Given the description of an element on the screen output the (x, y) to click on. 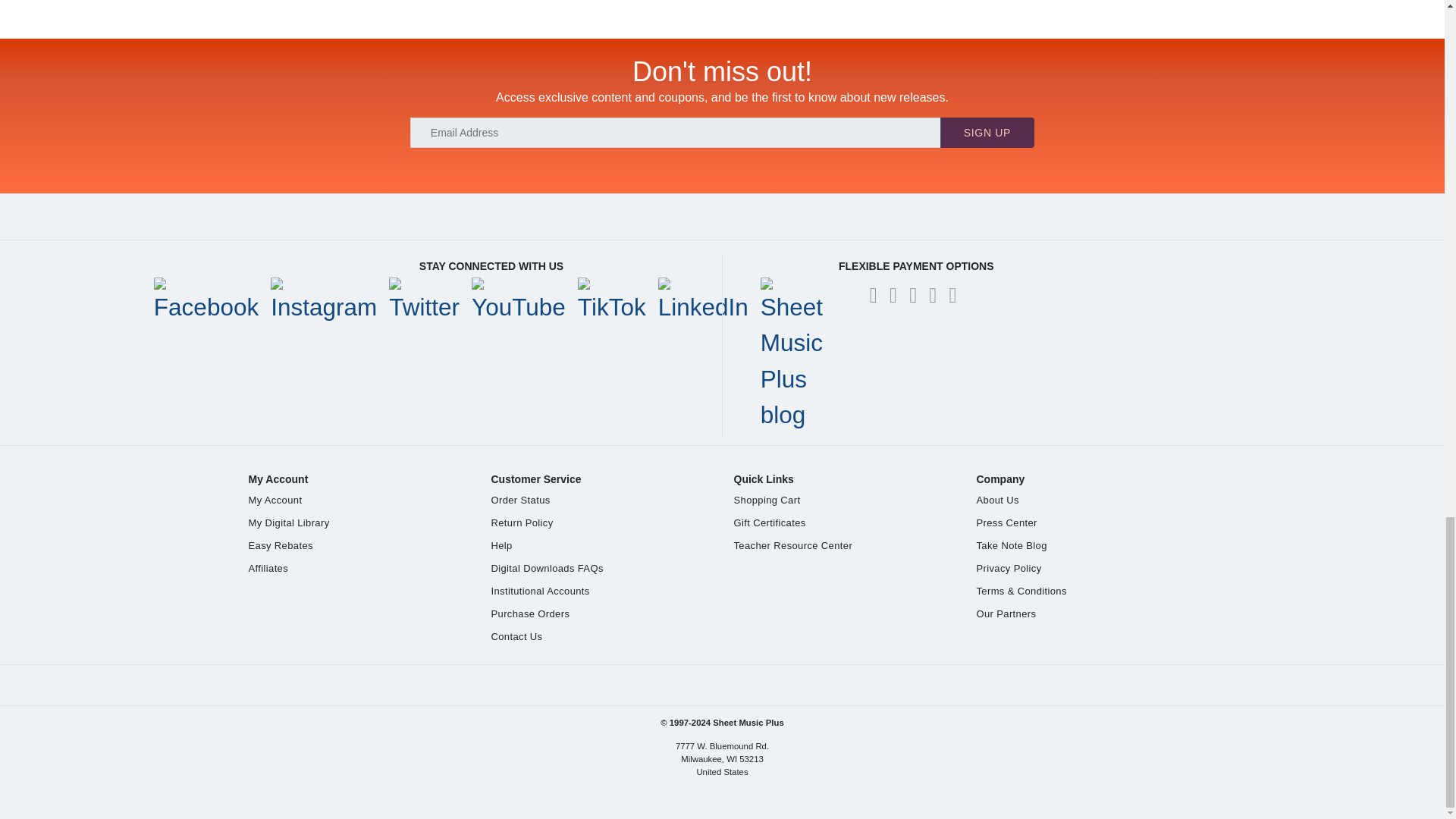
Go to My Account (275, 500)
Go to My Digital Library (289, 522)
Go to Return Policy (522, 522)
Customer reviews powered by Trustpilot (722, 216)
Go to Order Status (521, 500)
Go to Contact Us (517, 636)
Go to Help (502, 545)
Go to Easy Rebates (280, 545)
Go to School and Church Accounts (540, 591)
Go to Digital Downloads FAQs (548, 568)
Go to Affiliates (268, 568)
Go to Purchase Orders (531, 613)
